Given the description of an element on the screen output the (x, y) to click on. 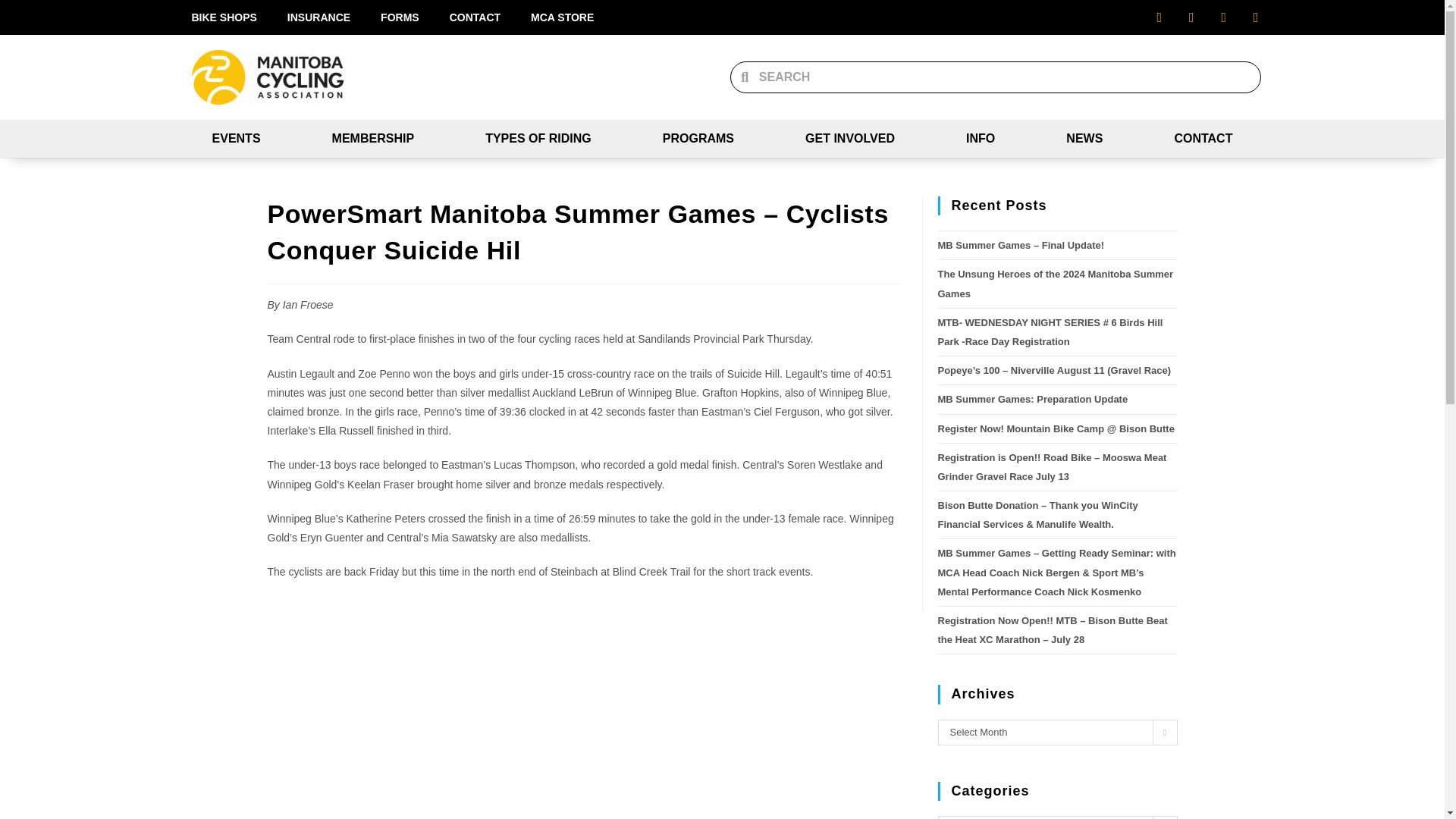
MCA STORE (561, 17)
CONTACT (474, 17)
BIKE SHOPS (223, 17)
INSURANCE (318, 17)
FORMS (399, 17)
